Given the description of an element on the screen output the (x, y) to click on. 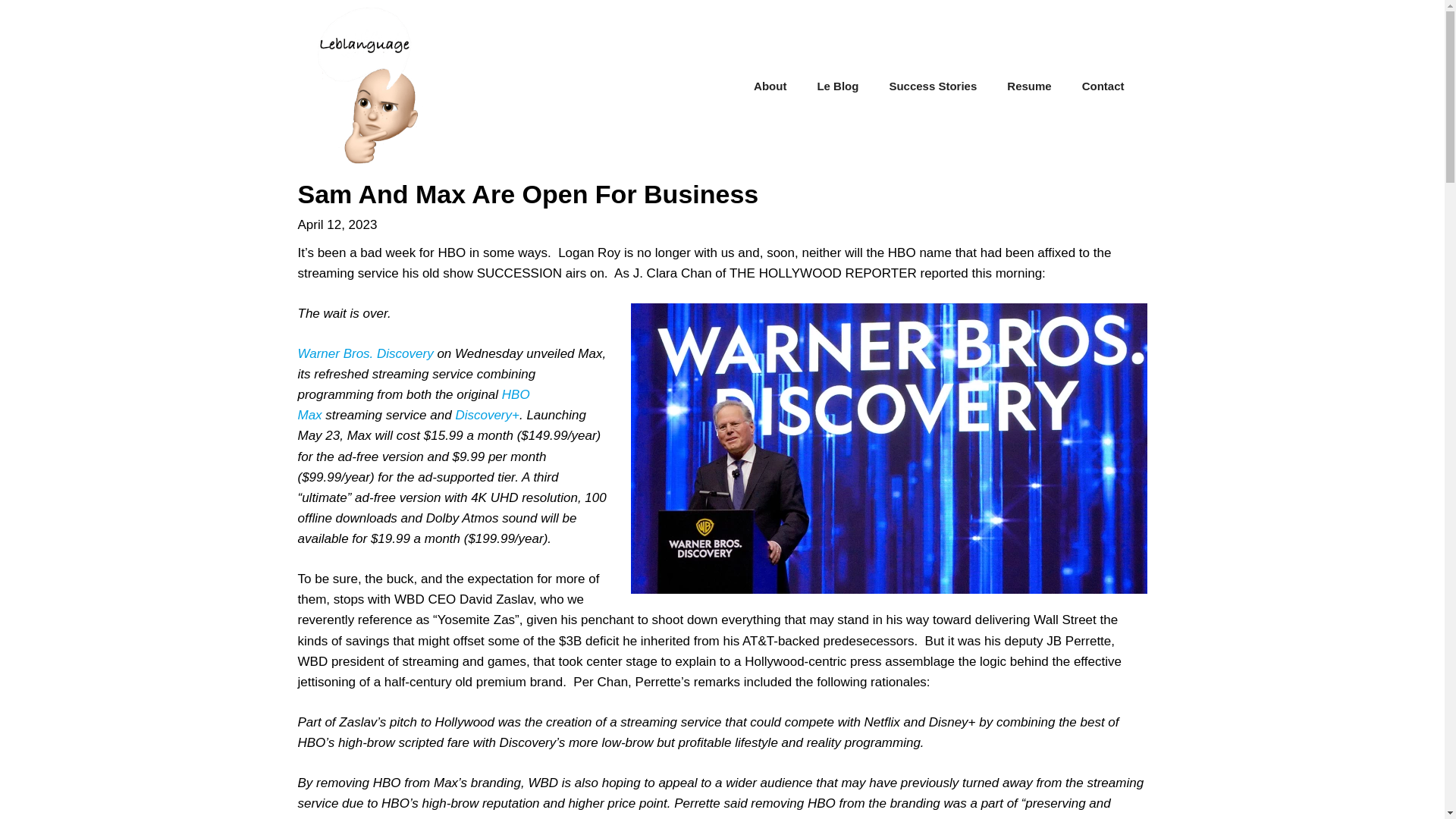
HBO Max (413, 404)
About (770, 85)
Resume (1028, 85)
Success Stories (932, 85)
Warner Bros. Discovery (364, 353)
Contact (1103, 85)
Le Blog (837, 85)
